Given the description of an element on the screen output the (x, y) to click on. 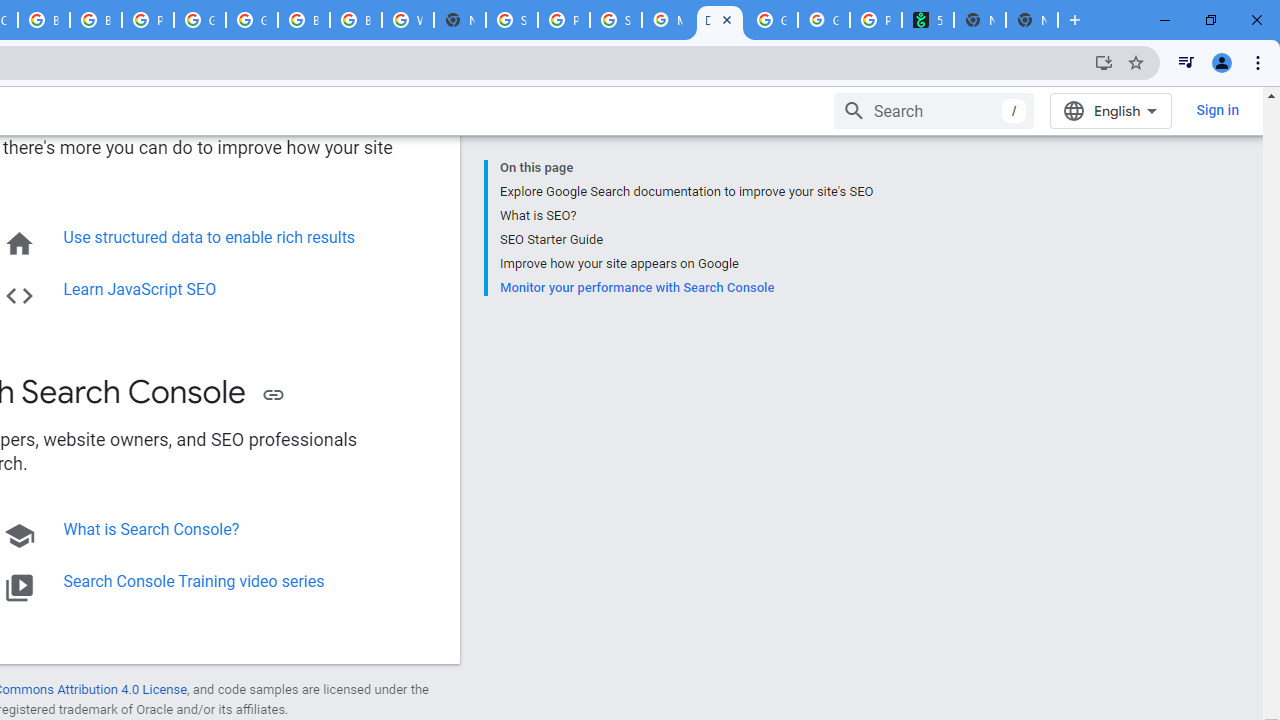
Sign in - Google Accounts (511, 20)
Improve how your site appears on Google (686, 263)
What is Search Console? (151, 529)
Google Cloud Platform (251, 20)
Google Cloud Platform (200, 20)
Browse Chrome as a guest - Computer - Google Chrome Help (303, 20)
Install Google Developers (1103, 62)
